Given the description of an element on the screen output the (x, y) to click on. 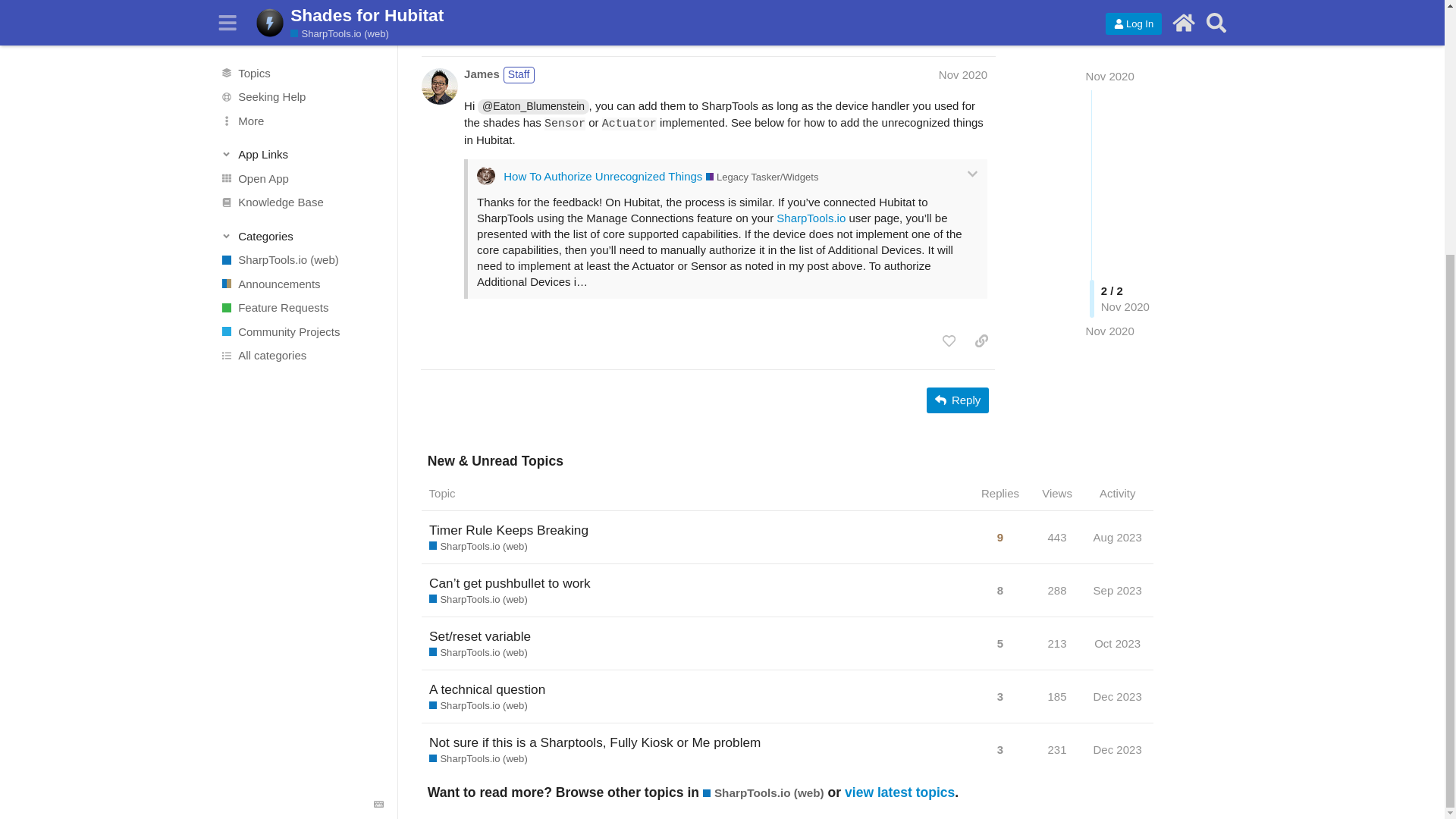
All categories (301, 3)
Nov 2020 (963, 74)
Keyboard Shortcuts (378, 444)
Nov 1, 2020 7:55 am (1110, 13)
James (481, 73)
Nov 2020 (1110, 13)
last reply (596, 8)
